Given the description of an element on the screen output the (x, y) to click on. 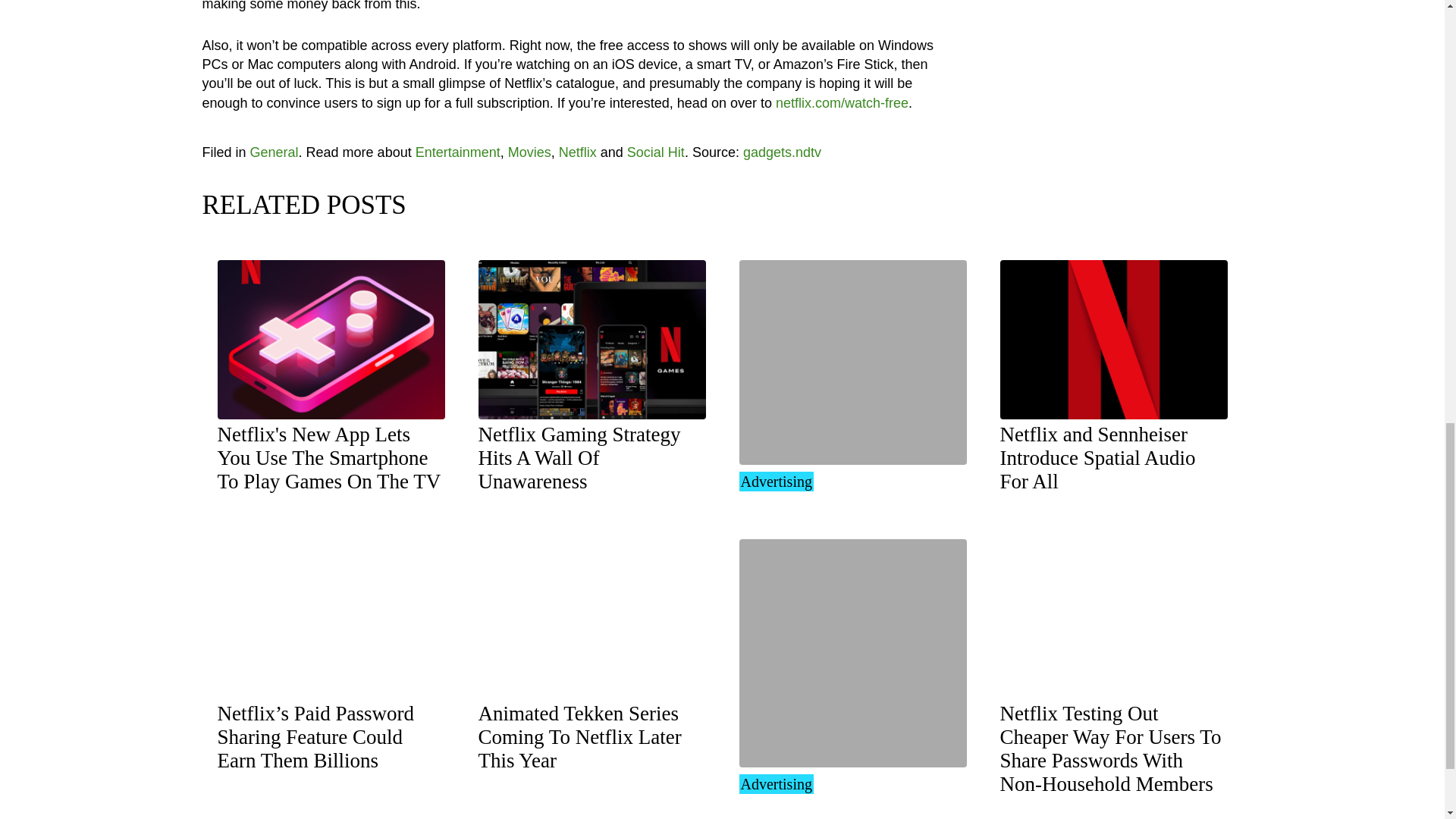
Netflix (328, 458)
